Given the description of an element on the screen output the (x, y) to click on. 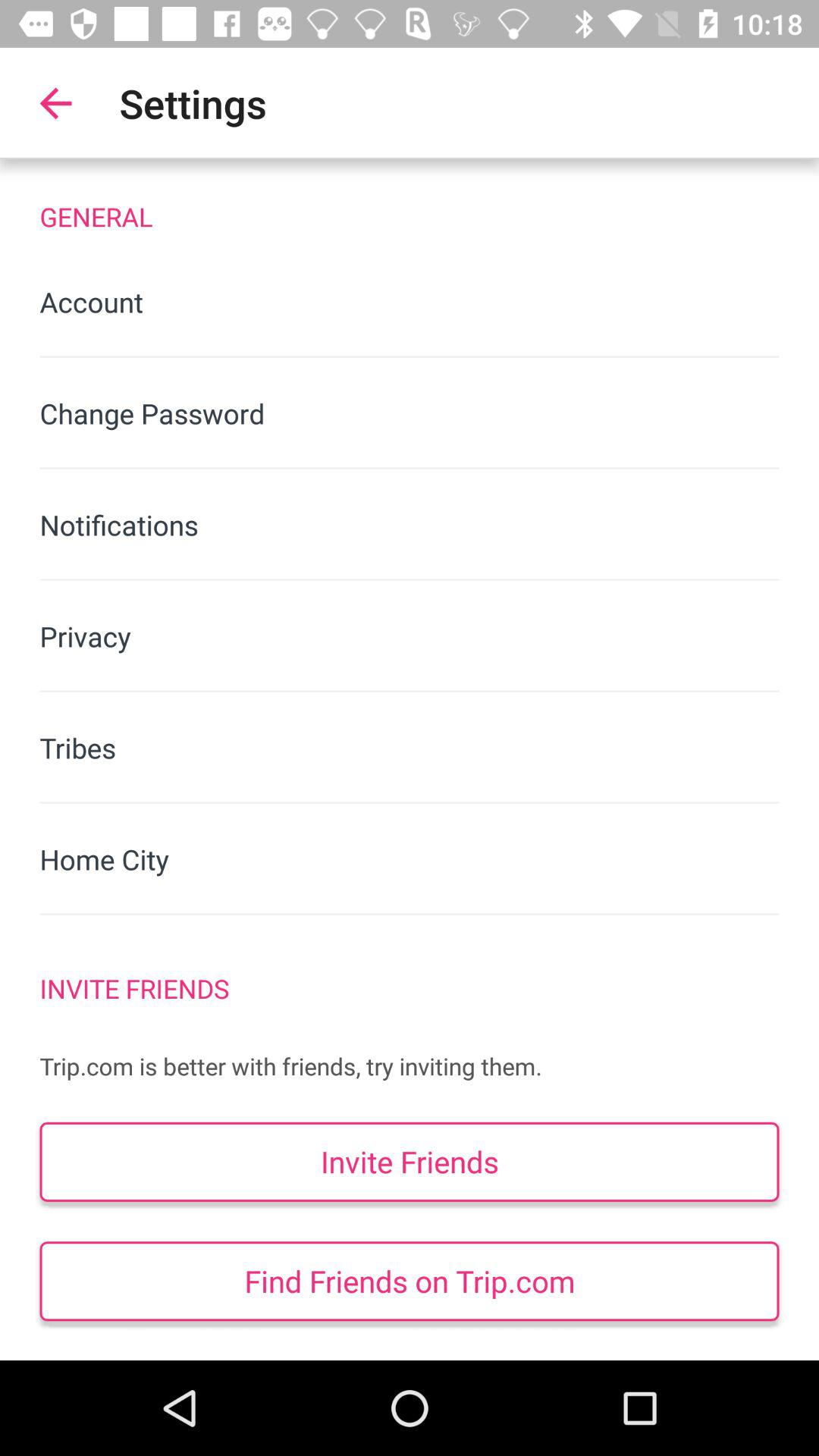
click the icon above change password (409, 301)
